Given the description of an element on the screen output the (x, y) to click on. 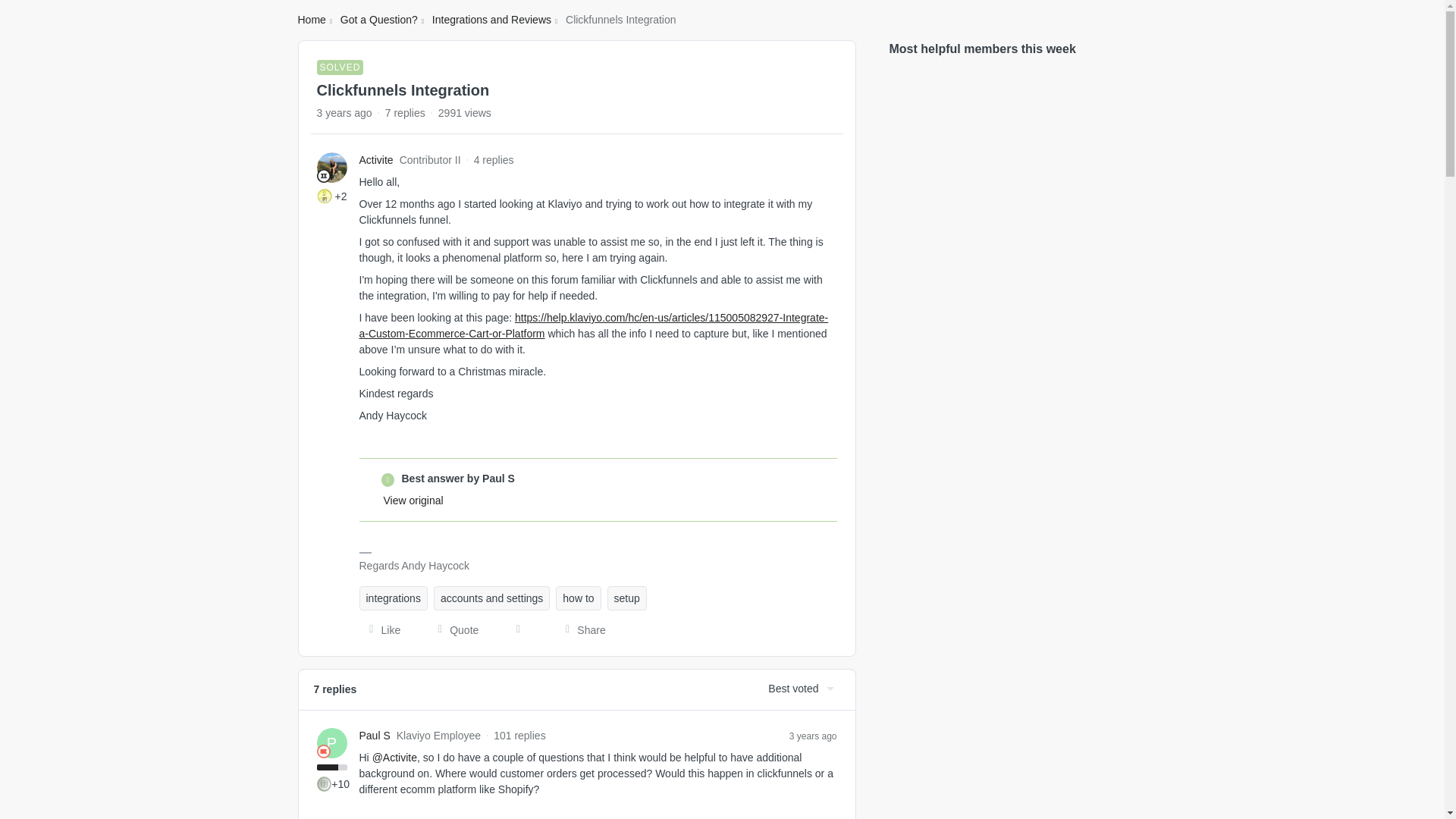
Activite (376, 160)
Paul S (374, 735)
Home (310, 19)
3 years ago (813, 735)
how to (577, 598)
Integrations and Reviews (491, 19)
Got a Question? (378, 19)
Klaviyo Employee (323, 751)
integrations (393, 598)
Anniversary - 2 years (324, 196)
View original (414, 500)
P (332, 743)
Activite (376, 160)
Quote (453, 630)
Paul S (374, 735)
